Given the description of an element on the screen output the (x, y) to click on. 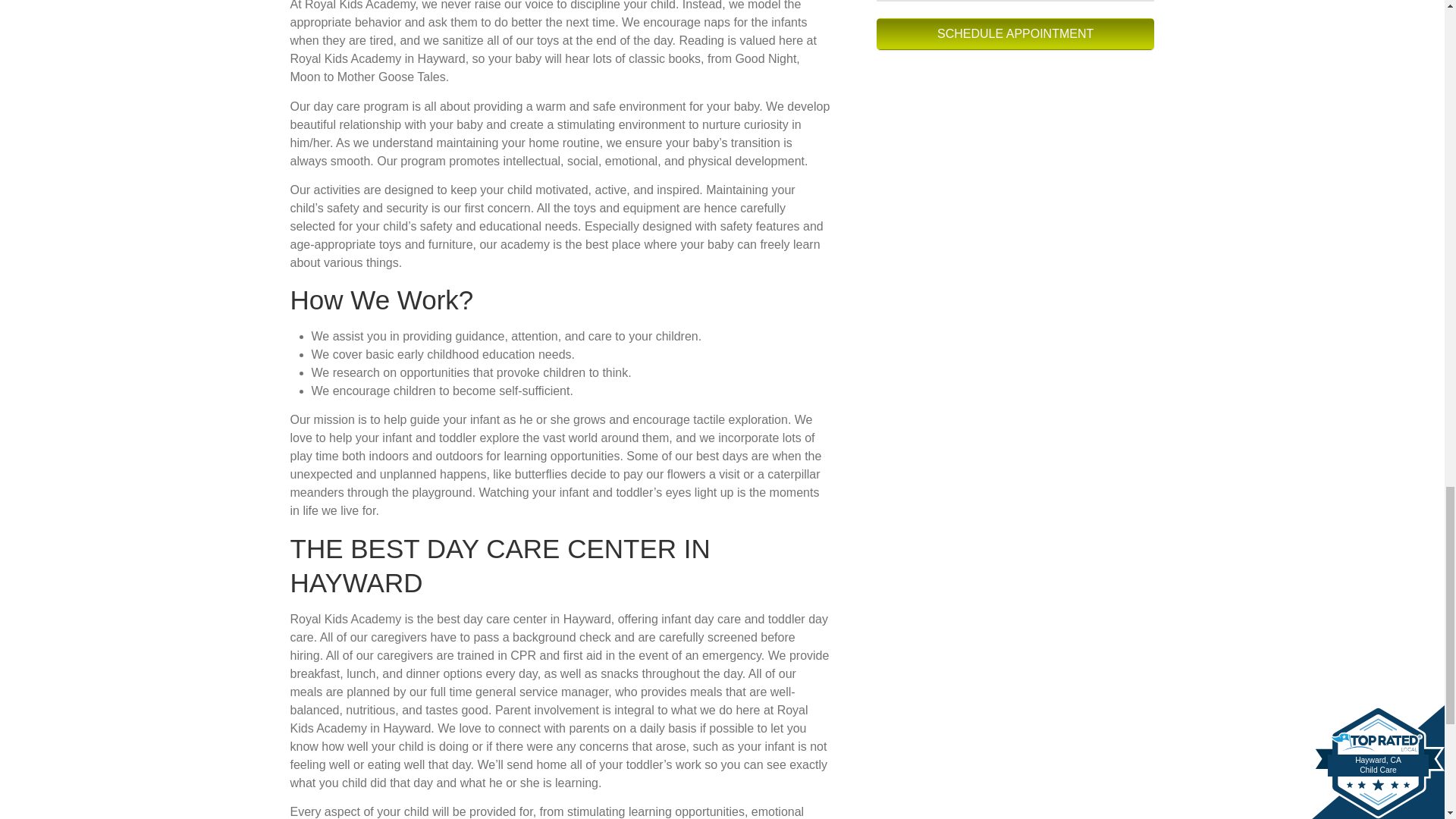
Schedule Appointment (1015, 34)
